Given the description of an element on the screen output the (x, y) to click on. 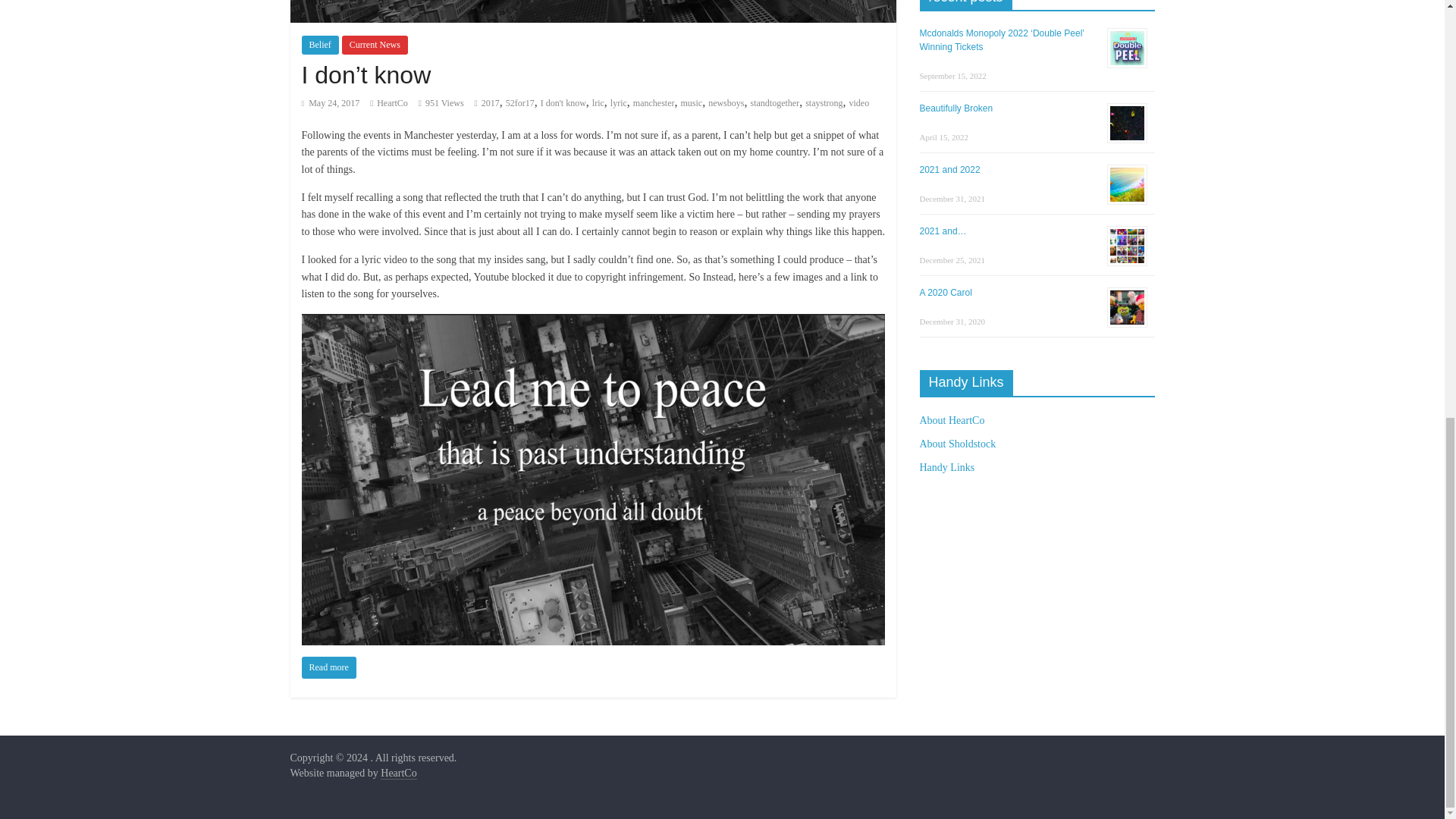
HeartCo (392, 102)
5:08 pm (330, 102)
